Given the description of an element on the screen output the (x, y) to click on. 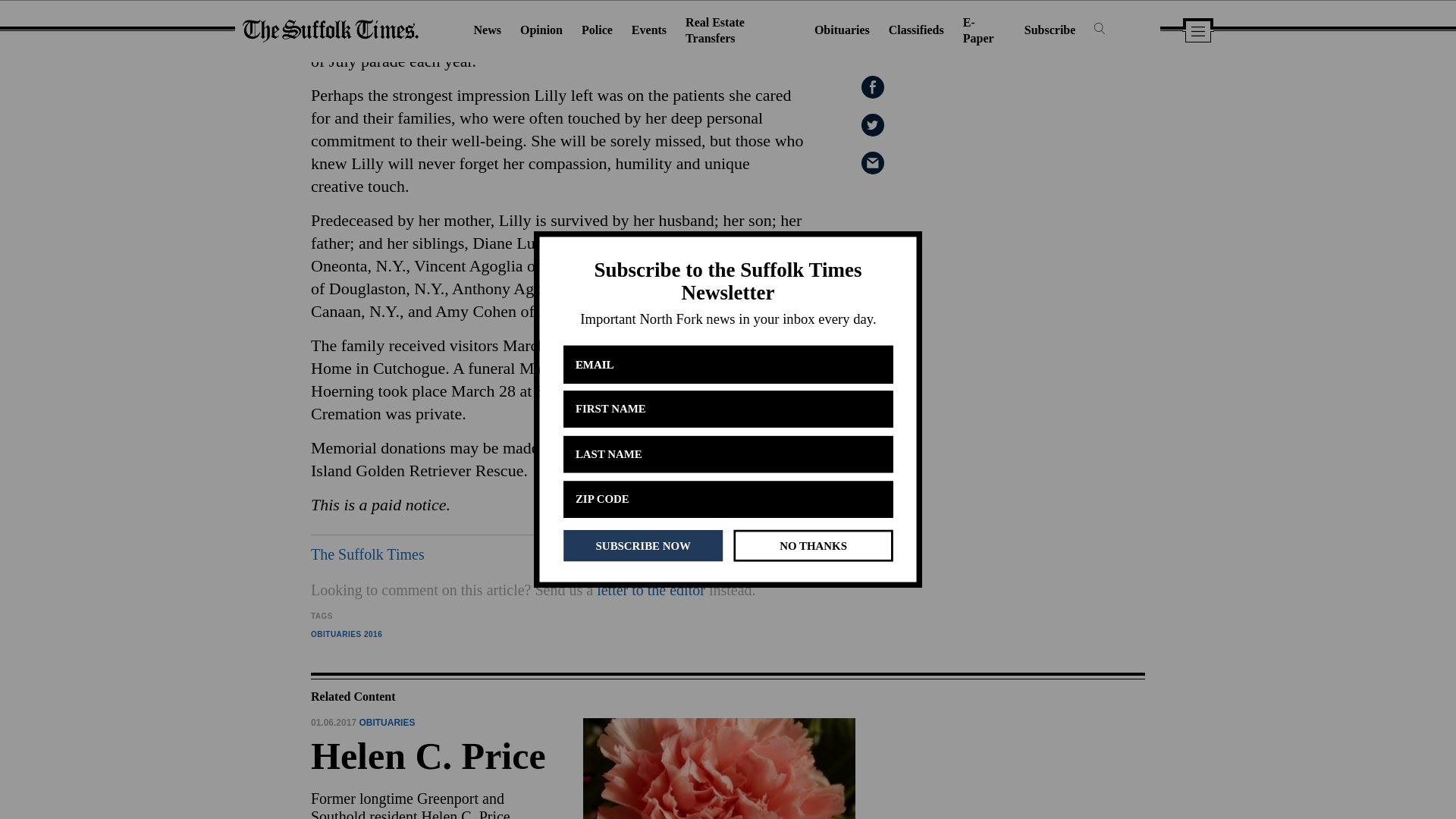
Email Created with Sketch. (801, 553)
